Given the description of an element on the screen output the (x, y) to click on. 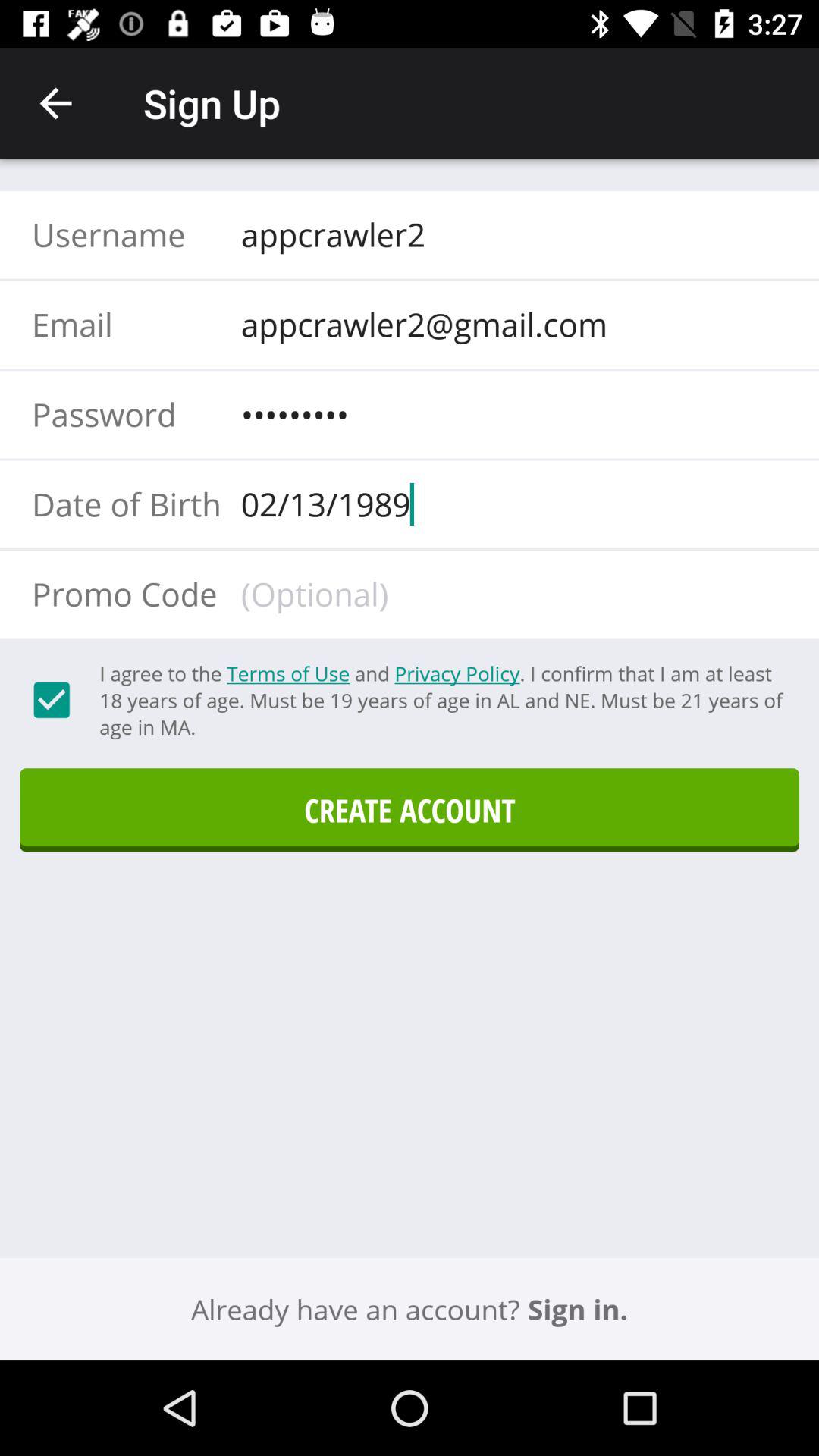
turn on the item next to the sign up (55, 103)
